Given the description of an element on the screen output the (x, y) to click on. 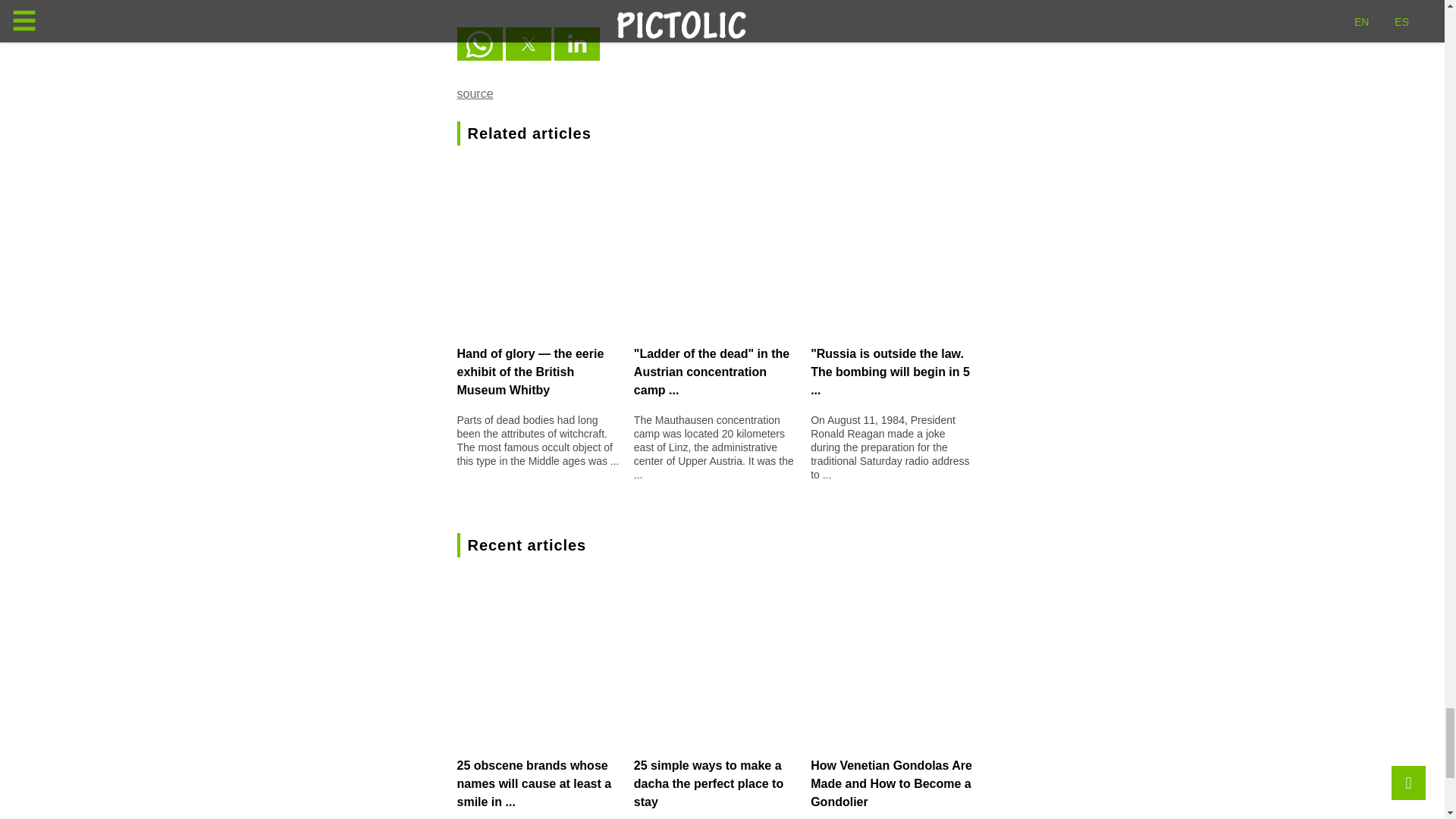
"Ladder of the dead" in the Austrian concentration camp ... (711, 371)
source (475, 92)
25 simple ways to make a dacha the perfect place to stay (708, 783)
"Russia is outside the law. The bombing will begin in 5 ... (889, 371)
How Venetian Gondolas Are Made and How to Become a Gondolier (891, 783)
